Given the description of an element on the screen output the (x, y) to click on. 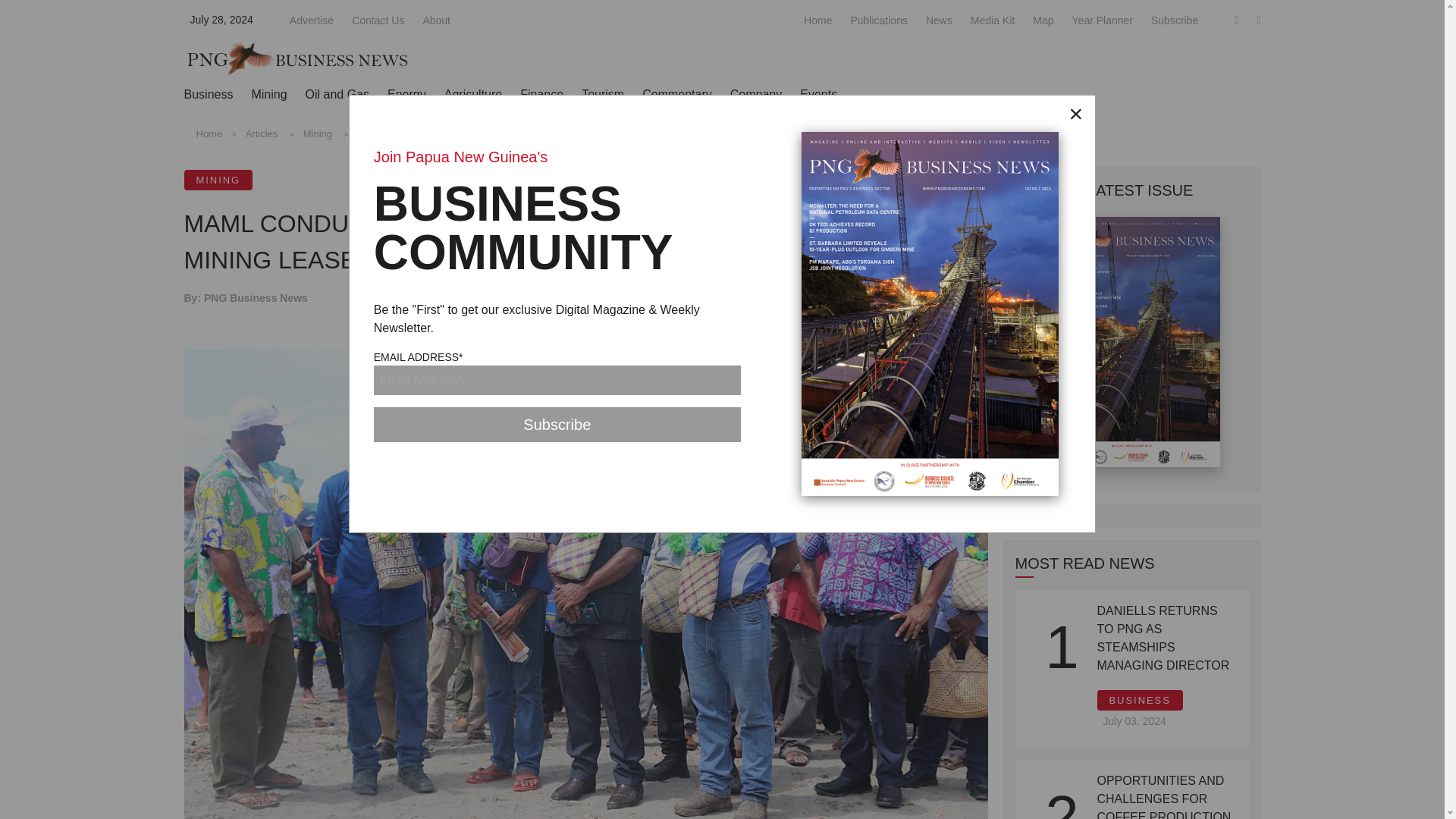
Energy (406, 94)
Subscribe (557, 424)
Map (1042, 20)
Advertise (311, 20)
Year Planner (1101, 20)
Business (207, 94)
Agriculture (473, 94)
Events (818, 94)
Mining (268, 94)
Home (817, 20)
PNG Business News (296, 58)
Commentary (676, 94)
Subscribe (1174, 20)
Tourism (602, 94)
About (435, 20)
